Given the description of an element on the screen output the (x, y) to click on. 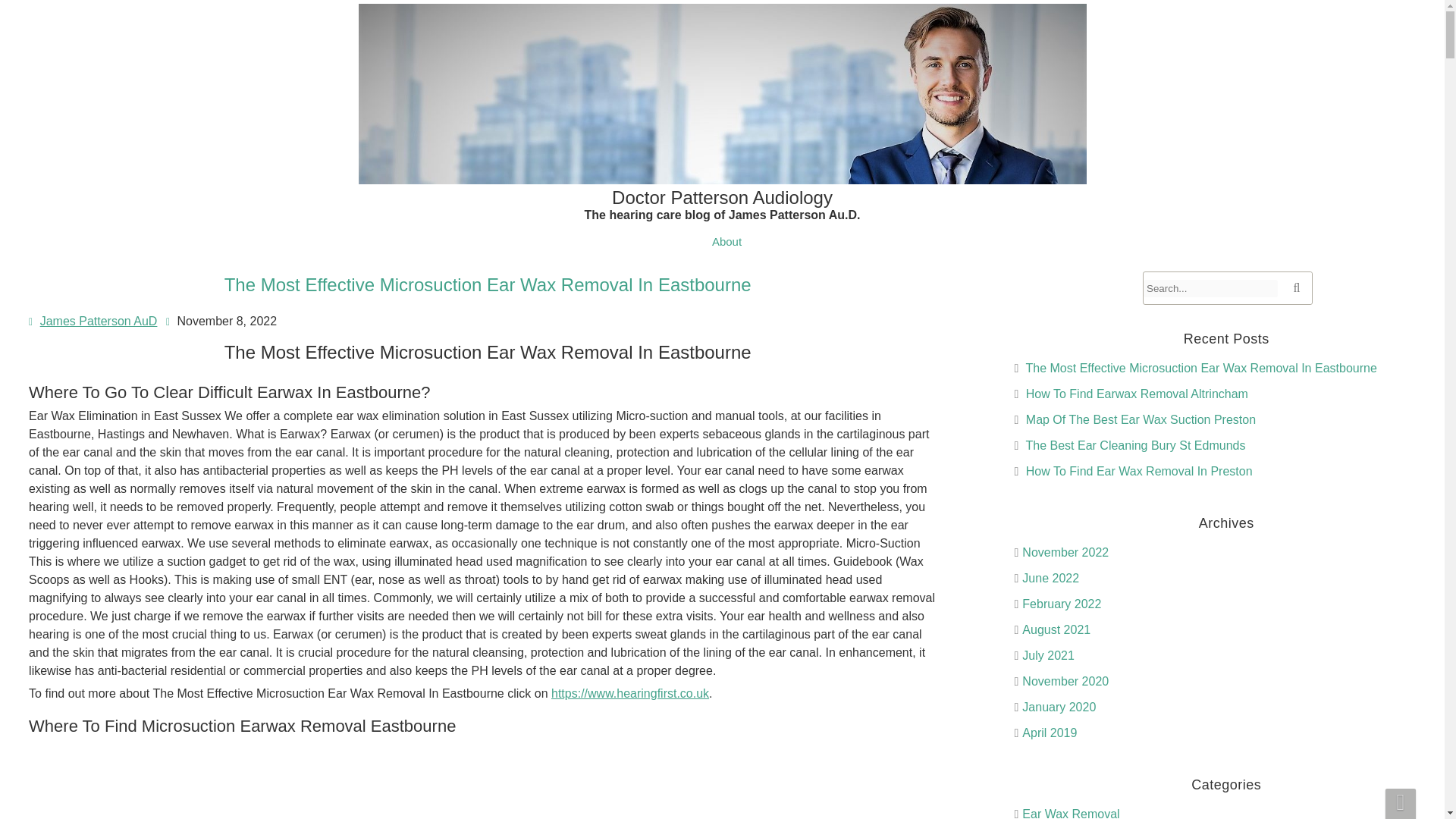
About (726, 241)
Posts by James Patterson AuD (98, 320)
James Patterson AuD (98, 320)
Doctor Patterson Audiology (722, 204)
Doctor Patterson Audiology (722, 204)
